Given the description of an element on the screen output the (x, y) to click on. 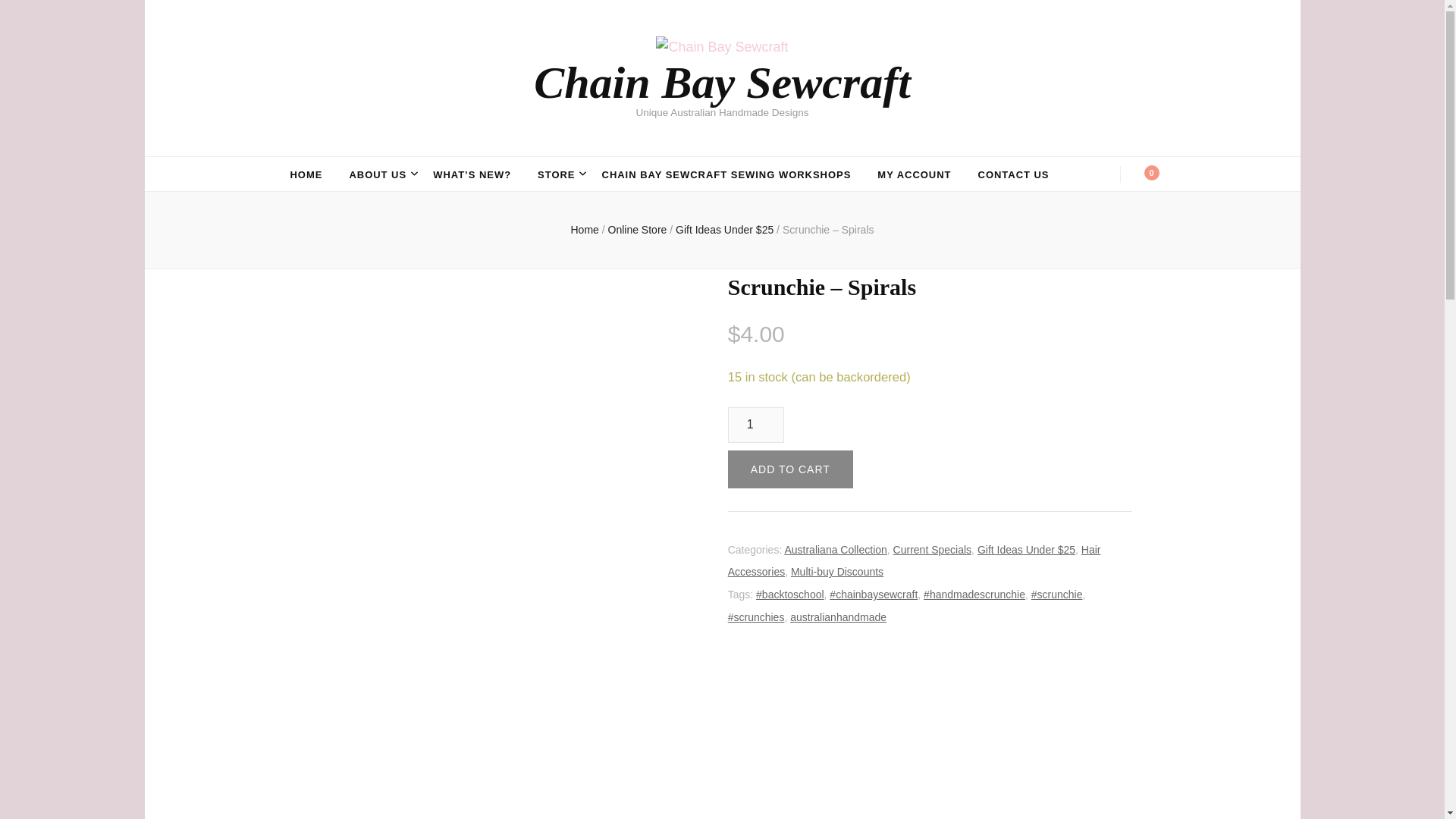
Home (584, 229)
CHAIN BAY SEWCRAFT SEWING WORKSHOPS (726, 174)
HOME (305, 174)
CONTACT US (1013, 174)
Multi-buy Discounts (836, 571)
Current Specials (932, 549)
Australiana Collection (835, 549)
Hair Accessories (914, 560)
ADD TO CART (790, 469)
Online Store (637, 229)
